Given the description of an element on the screen output the (x, y) to click on. 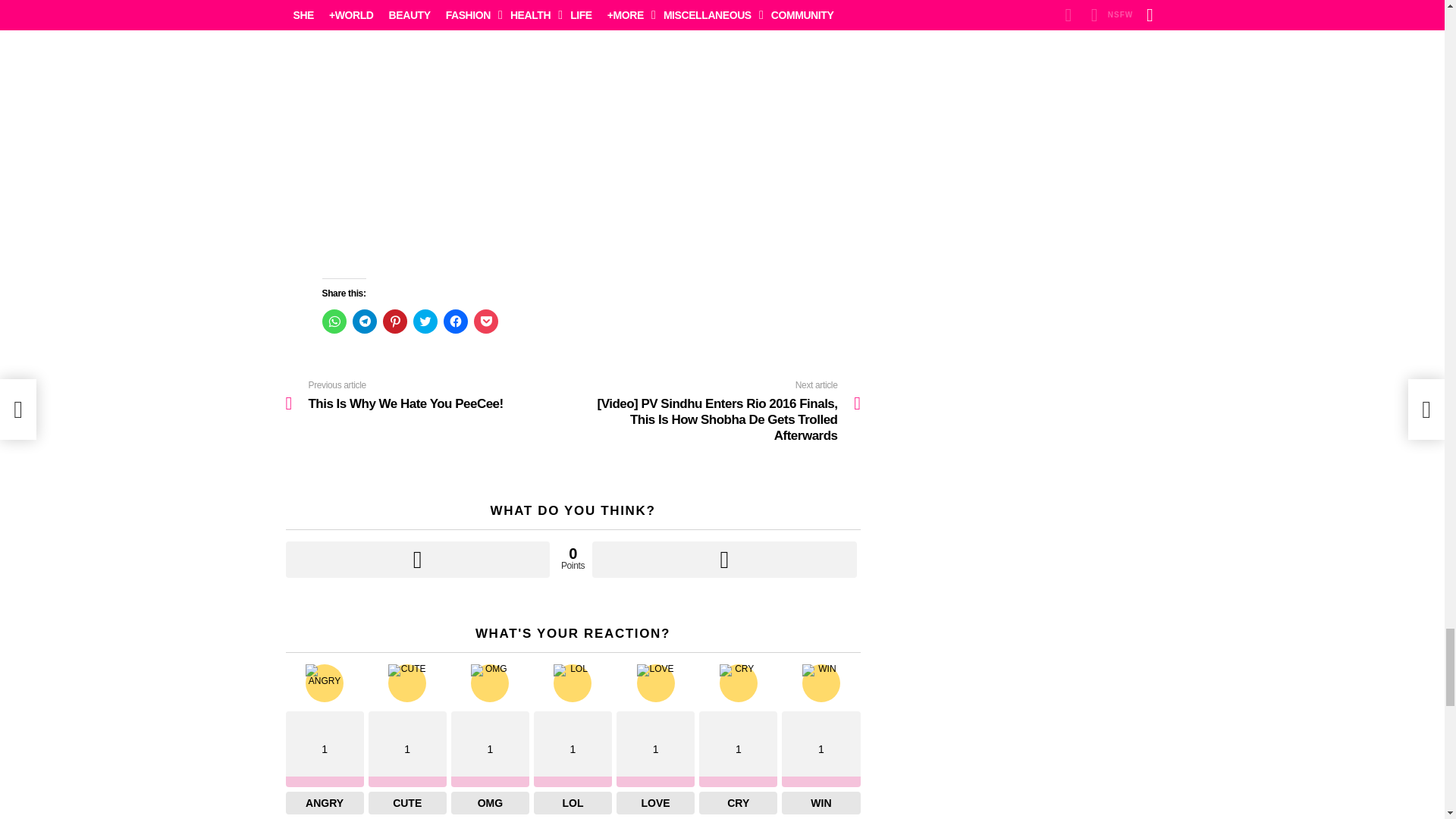
Click to share on Telegram (363, 321)
Click to share on WhatsApp (333, 321)
Click to share on Twitter (424, 321)
Click to share on Pinterest (393, 321)
